Given the description of an element on the screen output the (x, y) to click on. 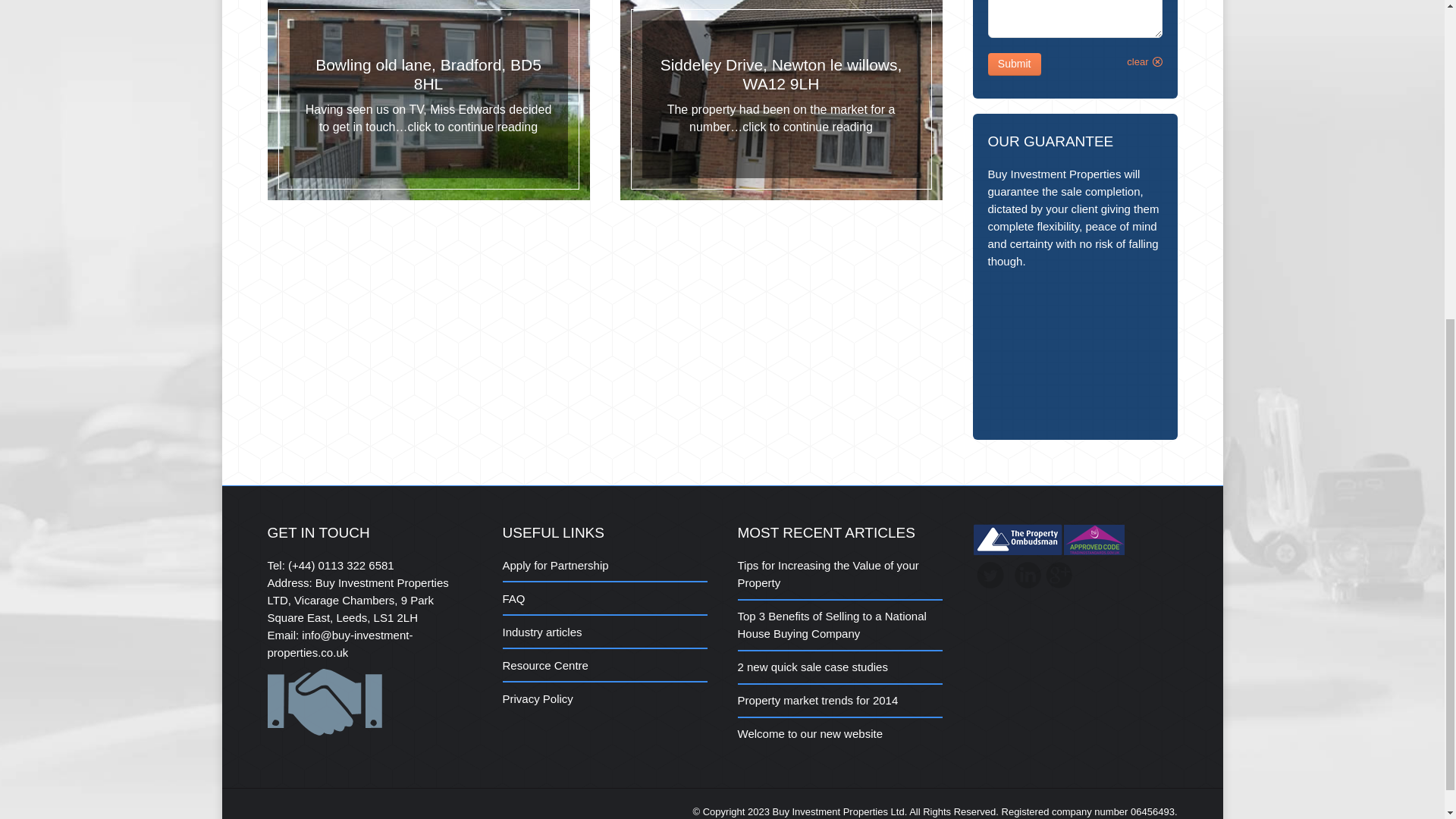
submit (1166, 70)
